Given the description of an element on the screen output the (x, y) to click on. 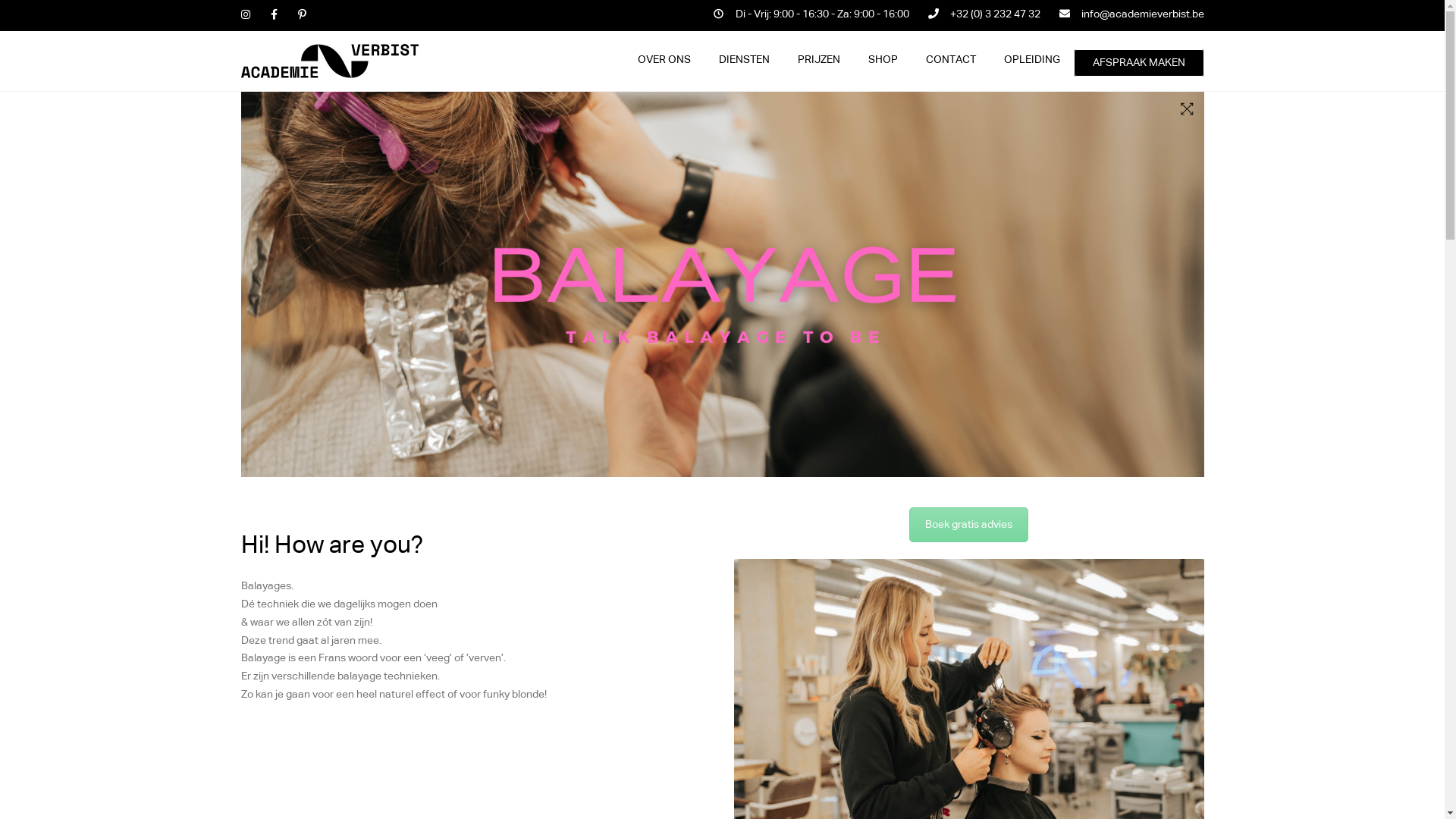
PRIJZEN Element type: text (818, 60)
foonkyfish Element type: text (319, 792)
info@academieverbist.be Element type: text (958, 561)
AFSPRAAK MAKEN Element type: text (1138, 62)
Customer reviews powered by Trustpilot Element type: hover (722, 704)
Privacybeleid Element type: text (405, 773)
OVER ONS Element type: text (663, 60)
CONTACT Element type: text (949, 60)
Falconplein 30, 2000 Antwerpen Element type: text (974, 521)
SHOP Element type: text (881, 60)
Boek gratis advies Element type: text (968, 524)
OPLEIDING Element type: text (1031, 60)
DIENSTEN Element type: text (744, 60)
